Given the description of an element on the screen output the (x, y) to click on. 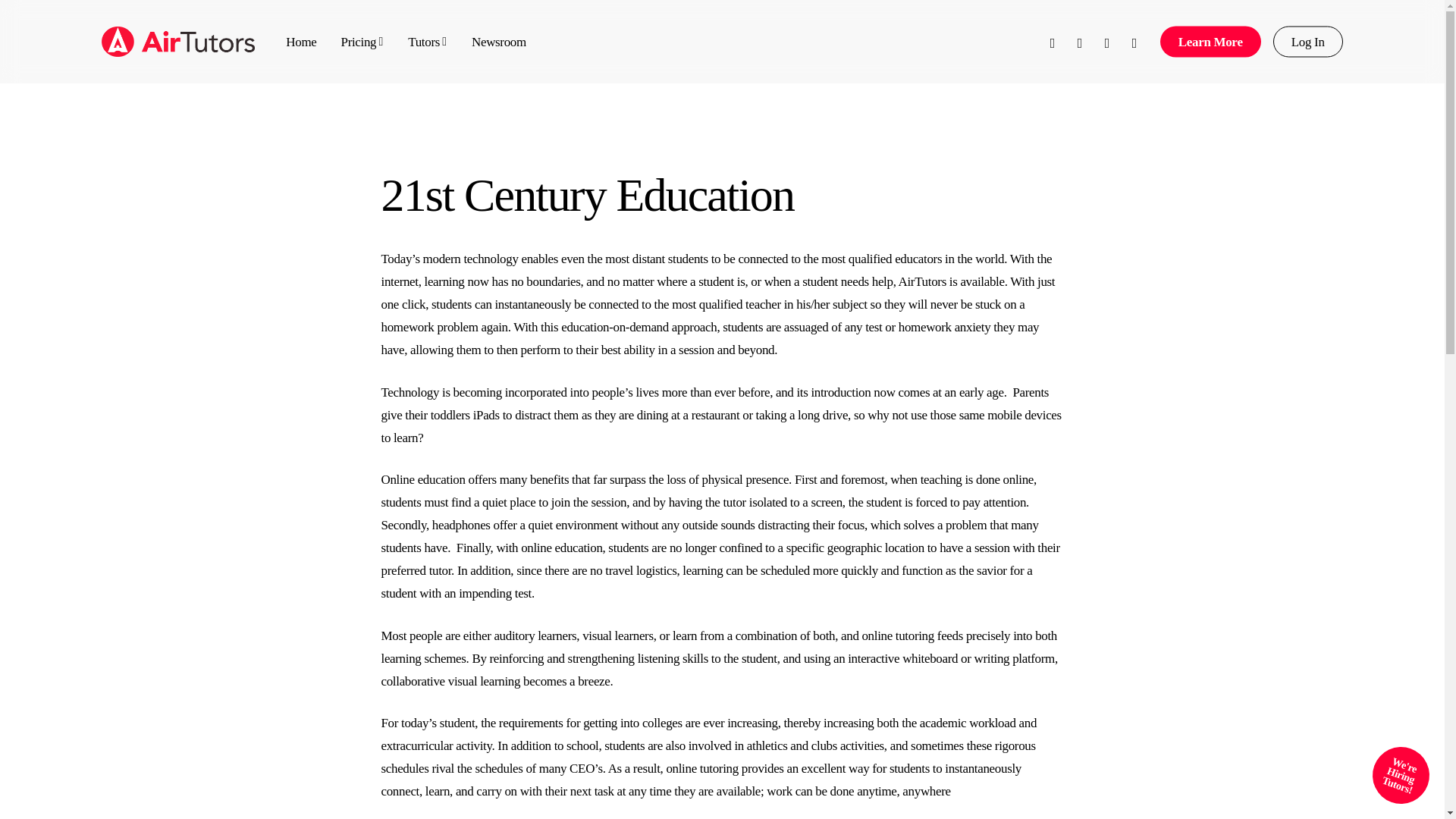
Pricing (362, 41)
twitter (1052, 40)
Learn More (1210, 40)
We're Hiring Tutors! (1392, 766)
linkedin (1107, 40)
Log In (1307, 40)
Tutors (426, 41)
Home (300, 41)
facebook (1079, 40)
email (1134, 40)
Newsroom (498, 41)
